Given the description of an element on the screen output the (x, y) to click on. 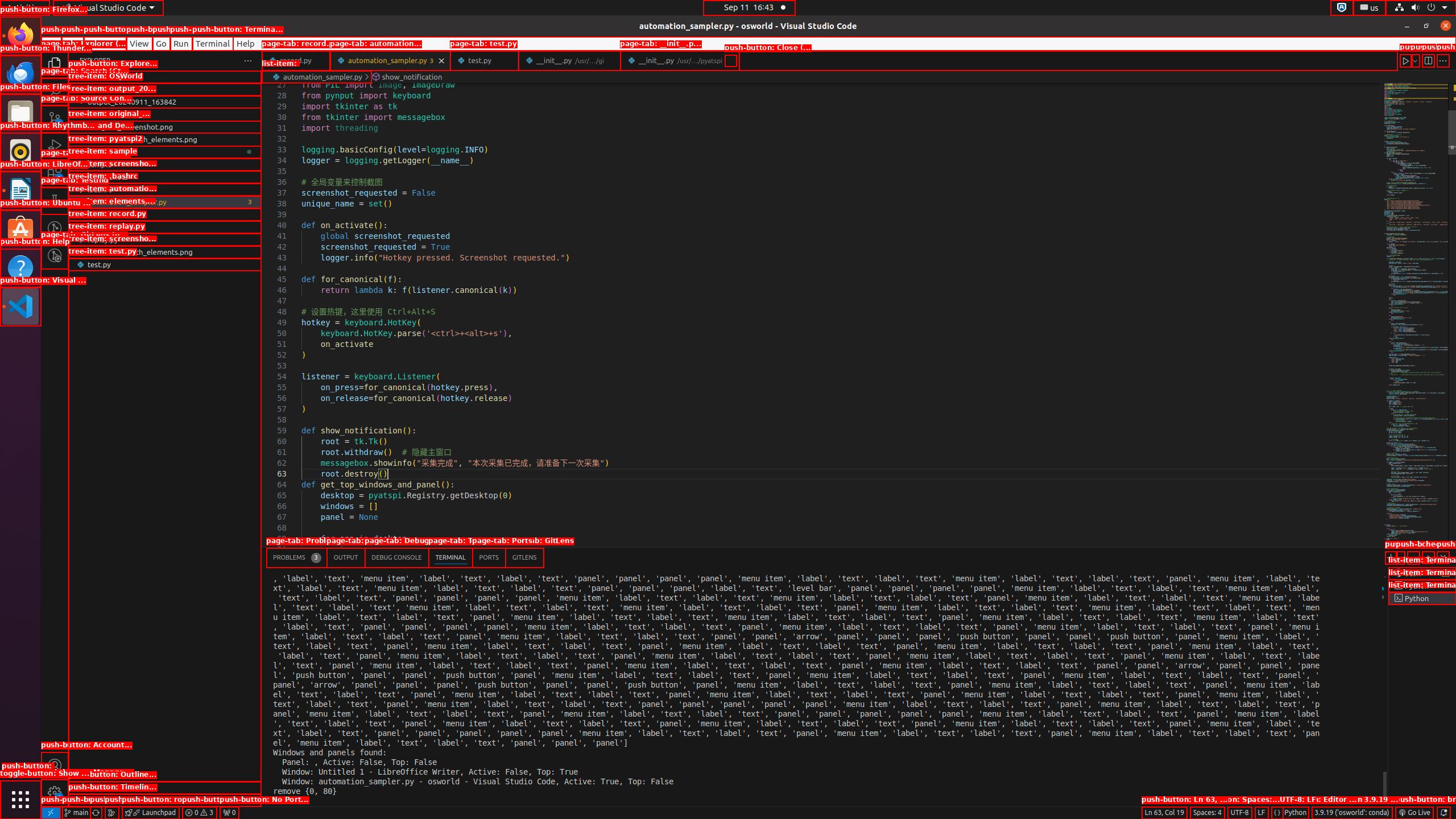
Run and Debug (Ctrl+Shift+D) Element type: page-tab (54, 145)
Selection Element type: push-button (104, 43)
GitLens Inspect Element type: page-tab (54, 255)
Views and More Actions... Element type: push-button (1413, 557)
Terminal 2 Python Element type: list-item (1422, 585)
